Given the description of an element on the screen output the (x, y) to click on. 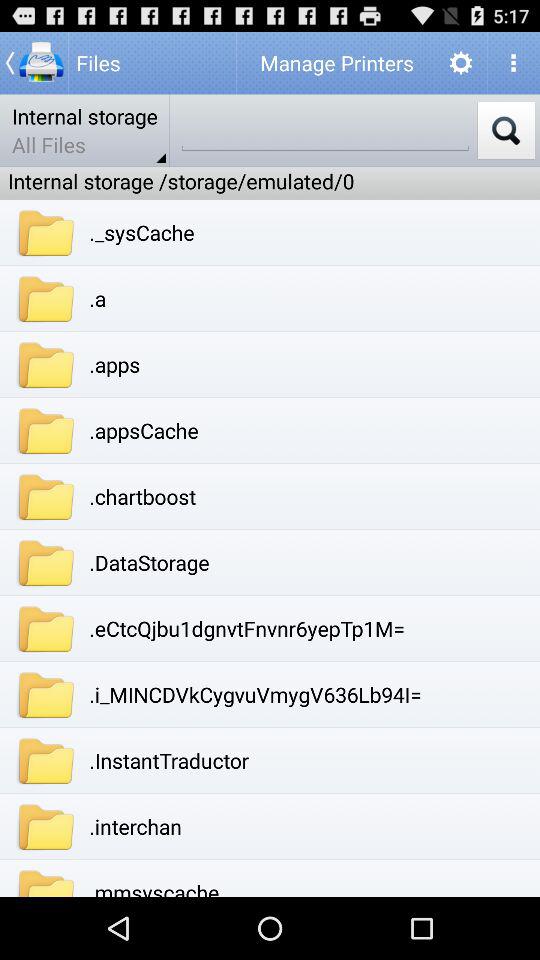
searches internal storage (505, 130)
